Given the description of an element on the screen output the (x, y) to click on. 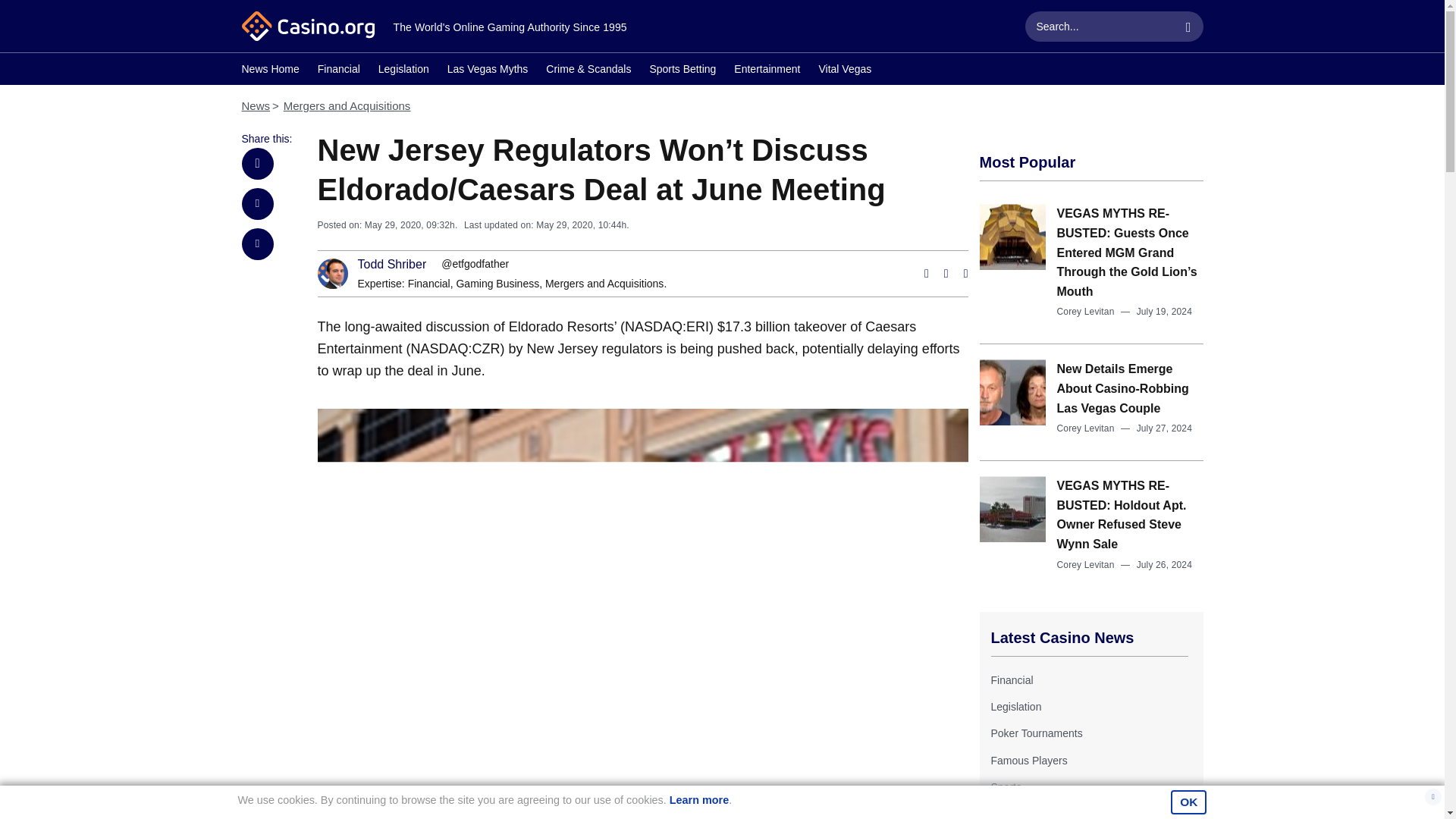
Todd Shriber (392, 264)
Mergers and Acquisitions (603, 283)
Famous Players (1028, 760)
New Details Emerge About Casino-Robbing Las Vegas Couple (1123, 388)
Mergers and Acquisitions (603, 283)
Mergers and Acquisitions (346, 105)
Entertainment (766, 70)
Mobile Gaming (1025, 813)
Legislation (403, 70)
Las Vegas Myths (487, 70)
Legislation (1015, 706)
Todd Shriber (392, 264)
Corey Levitan (1086, 428)
Corey Levitan (1086, 311)
